Given the description of an element on the screen output the (x, y) to click on. 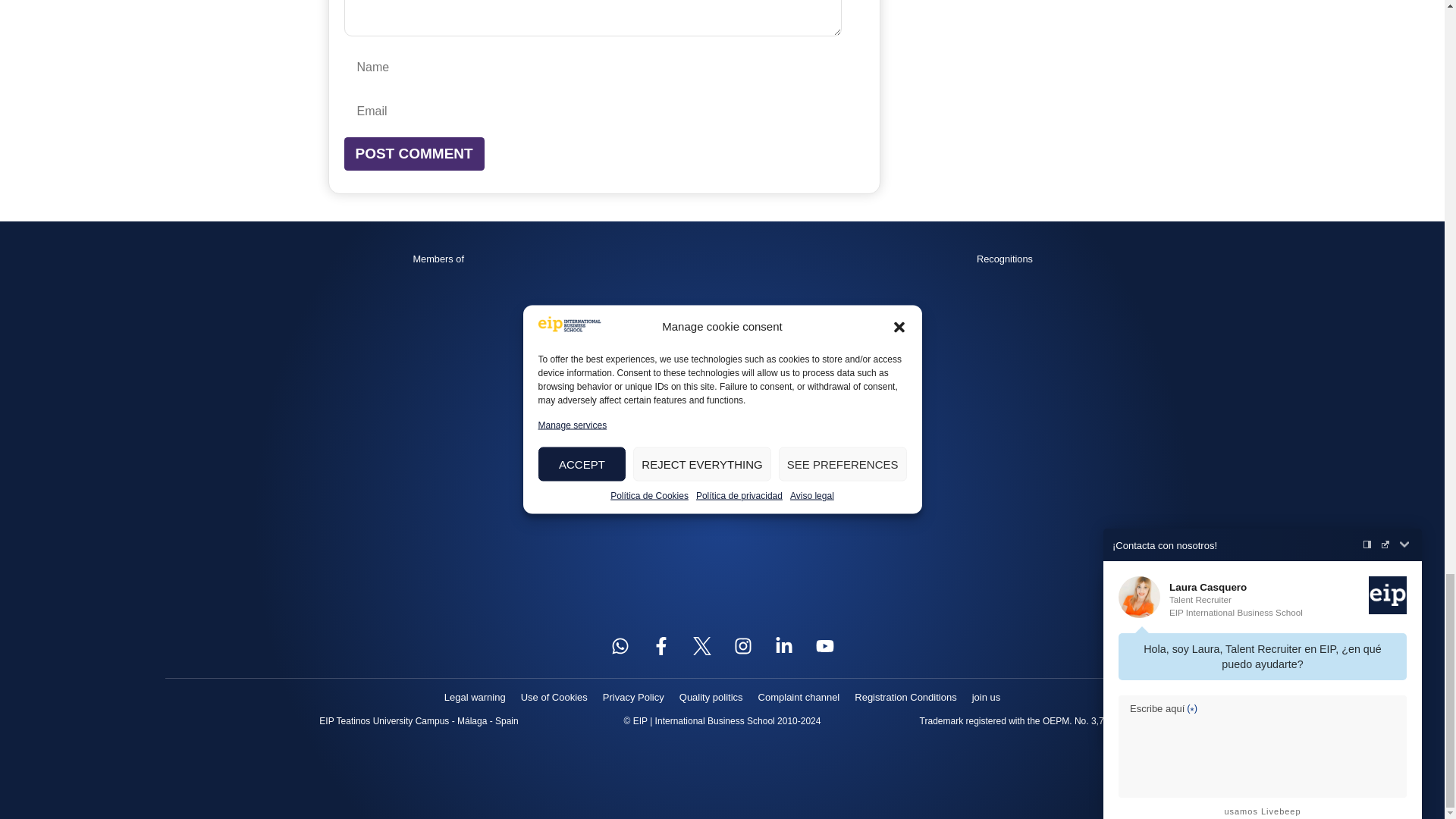
Post Comment (413, 154)
